Given the description of an element on the screen output the (x, y) to click on. 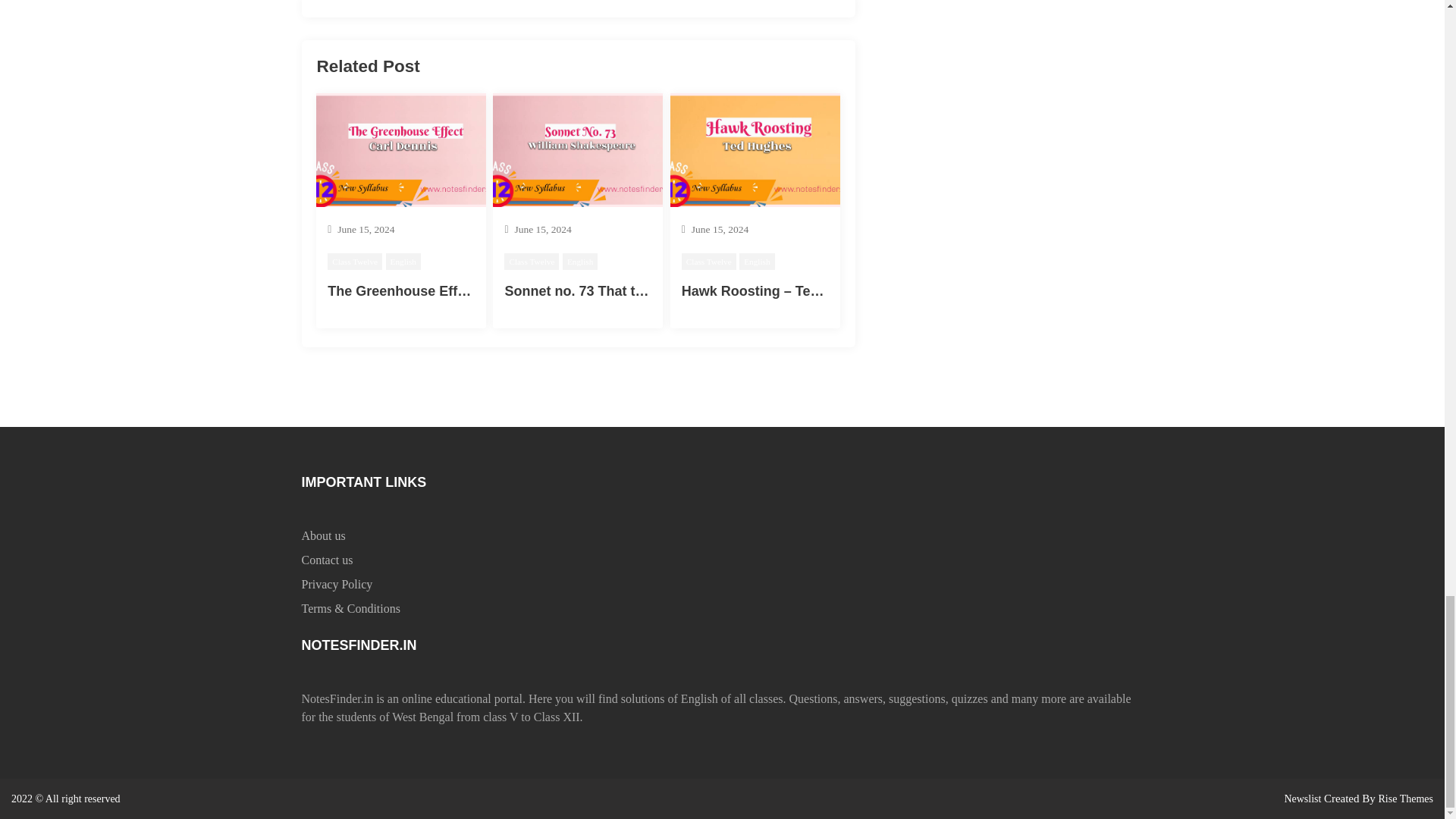
English (402, 262)
Class Twelve (354, 262)
